Given the description of an element on the screen output the (x, y) to click on. 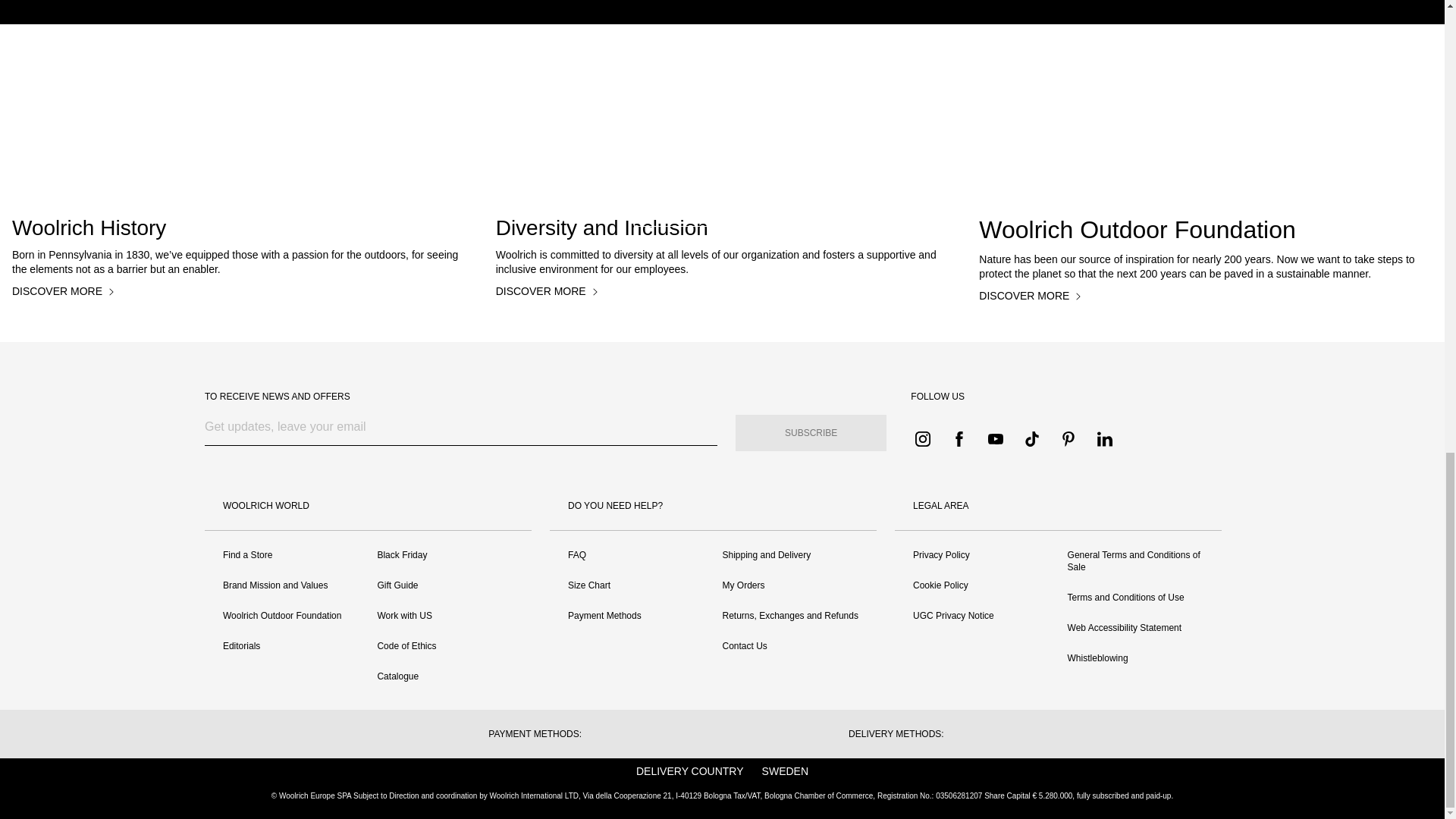
Woolrich History (238, 227)
SUBSCRIBE (810, 432)
DISCOVER MORE (550, 291)
DISCOVER MORE (721, 206)
DISCOVER MORE (1032, 296)
Woolrich Outdoor Foundation (1205, 229)
DISCOVER MORE (65, 291)
Diversity and Inclusion (722, 227)
